Given the description of an element on the screen output the (x, y) to click on. 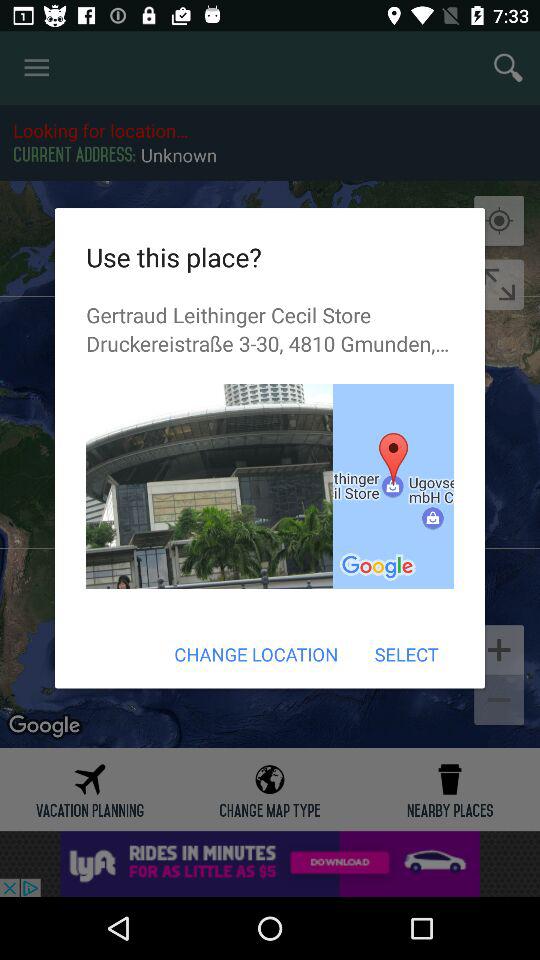
turn off icon to the right of change location (406, 654)
